Given the description of an element on the screen output the (x, y) to click on. 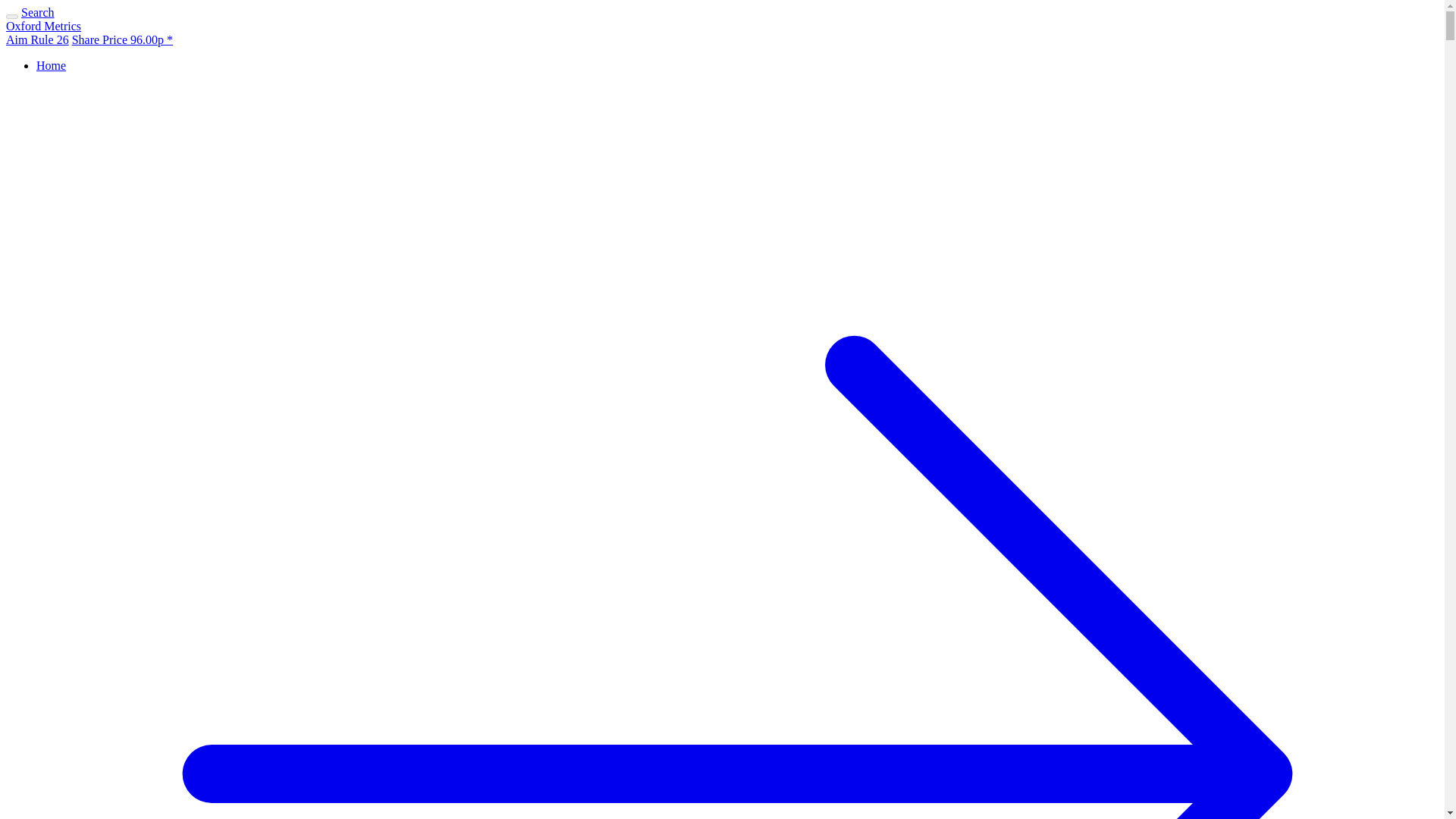
Oxford Metrics (43, 25)
Search (38, 11)
Aim Rule 26 (36, 39)
